Given the description of an element on the screen output the (x, y) to click on. 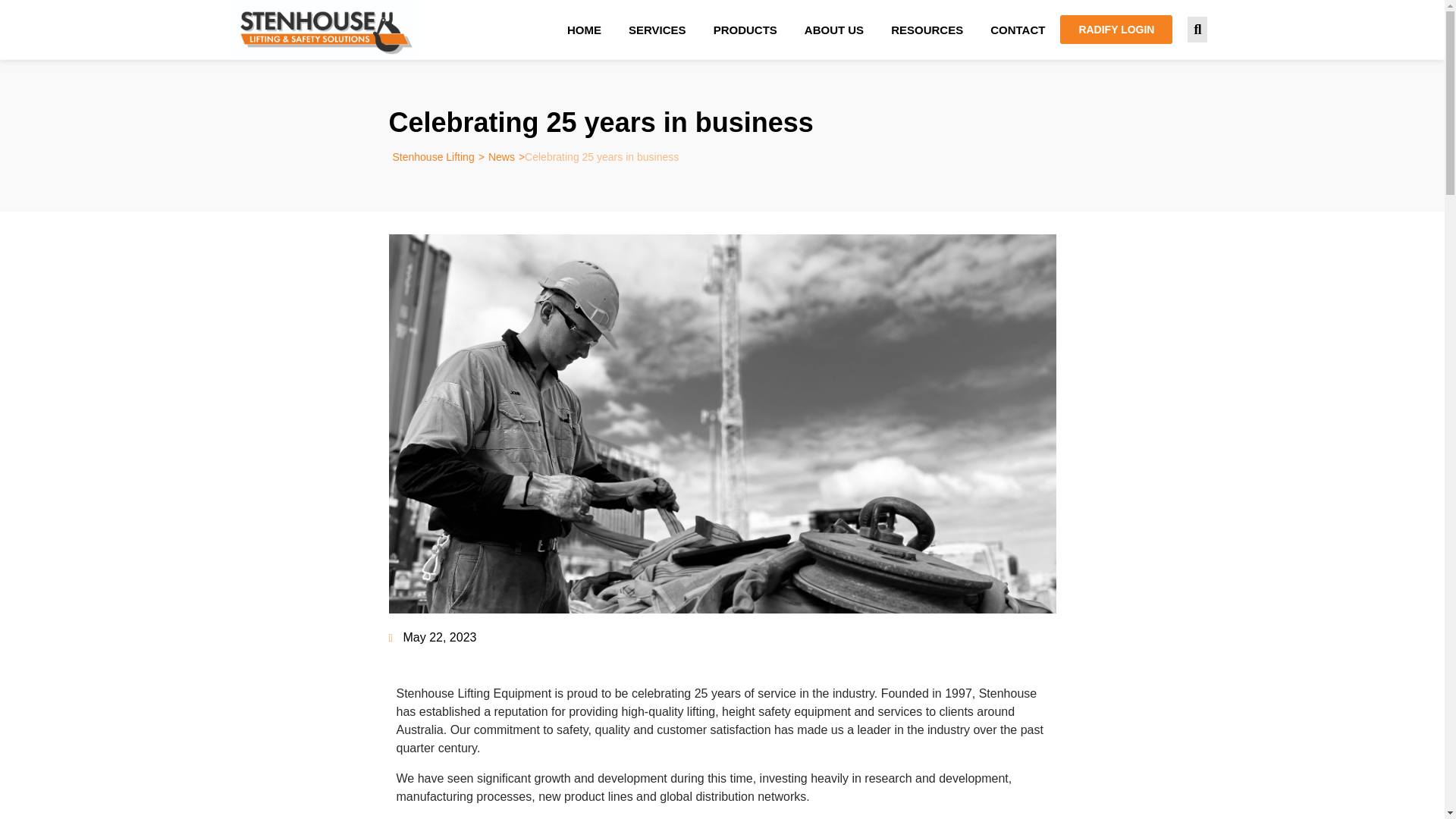
Go to the News category archives. (501, 156)
HOME (584, 29)
Go to Stenhouse Lifting. (433, 156)
PRODUCTS (745, 29)
SERVICES (656, 29)
